Given the description of an element on the screen output the (x, y) to click on. 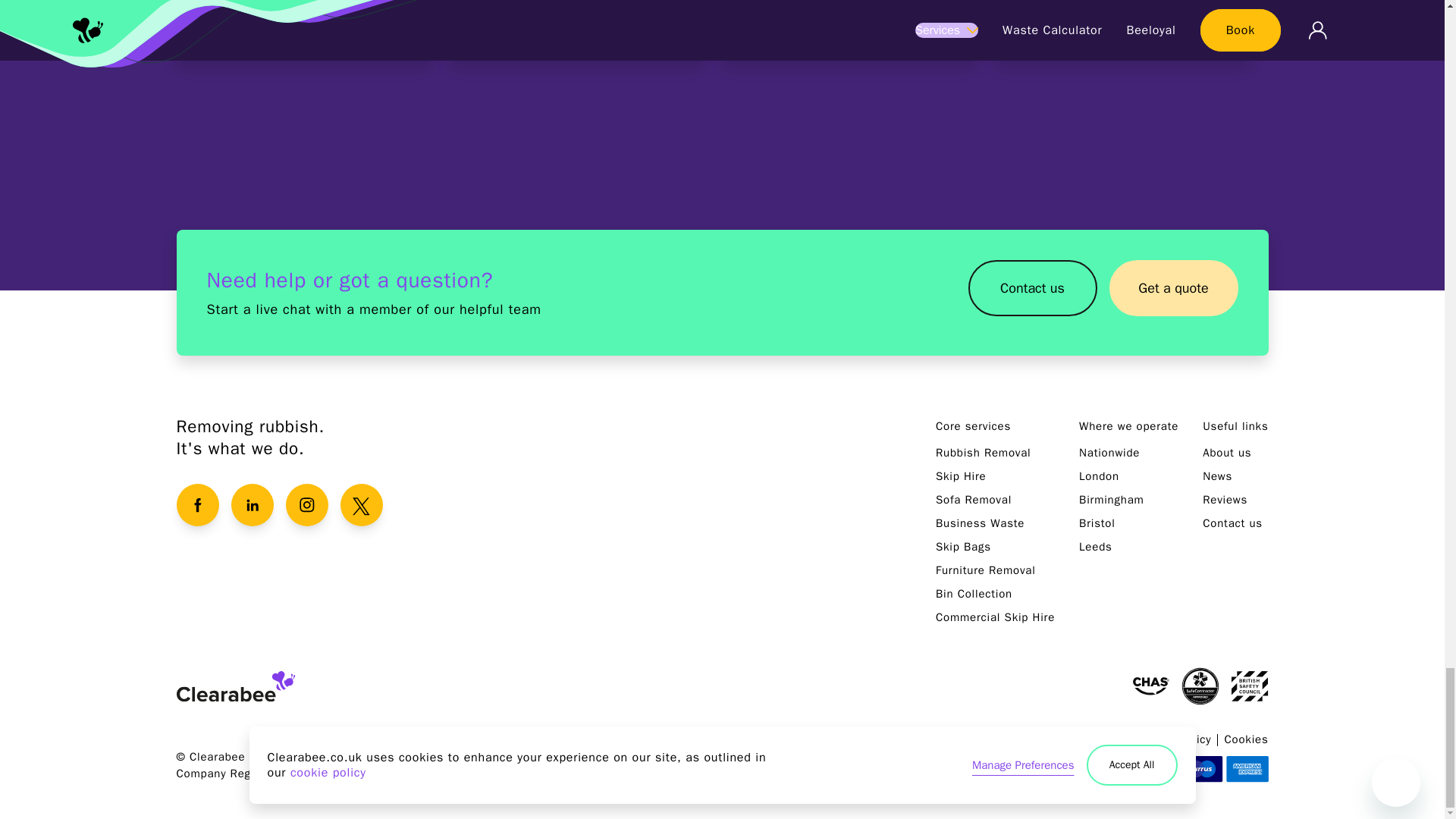
Skip Bags (963, 546)
Contact us (1032, 292)
Sofa Removal (973, 499)
Get a quote (1172, 288)
Rubbish Removal (983, 452)
Skip Hire (961, 476)
Furniture Removal (985, 570)
Get a quote (1172, 292)
Business Waste (849, 29)
